Given the description of an element on the screen output the (x, y) to click on. 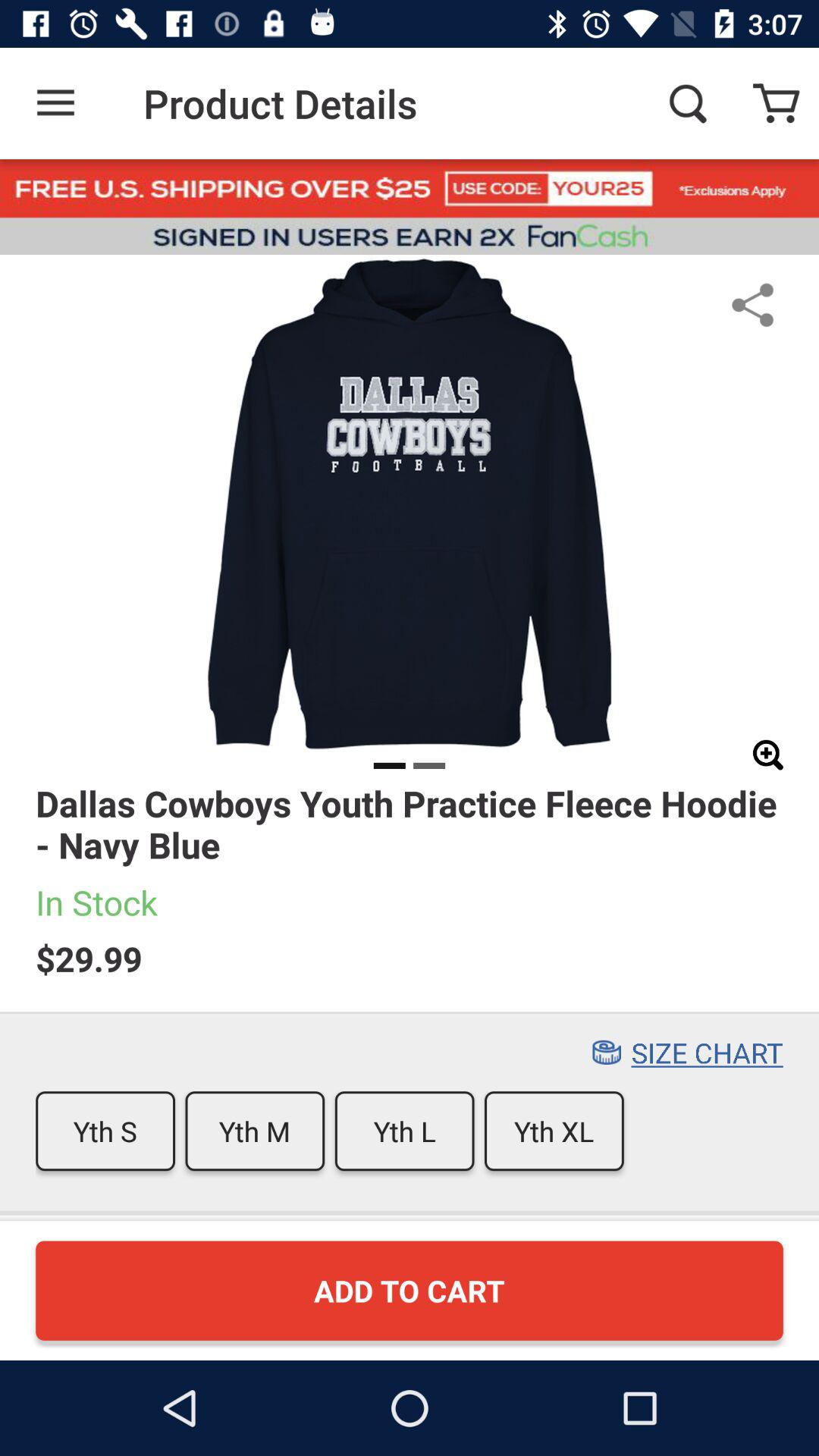
turn off item next to the yth m icon (105, 1131)
